Given the description of an element on the screen output the (x, y) to click on. 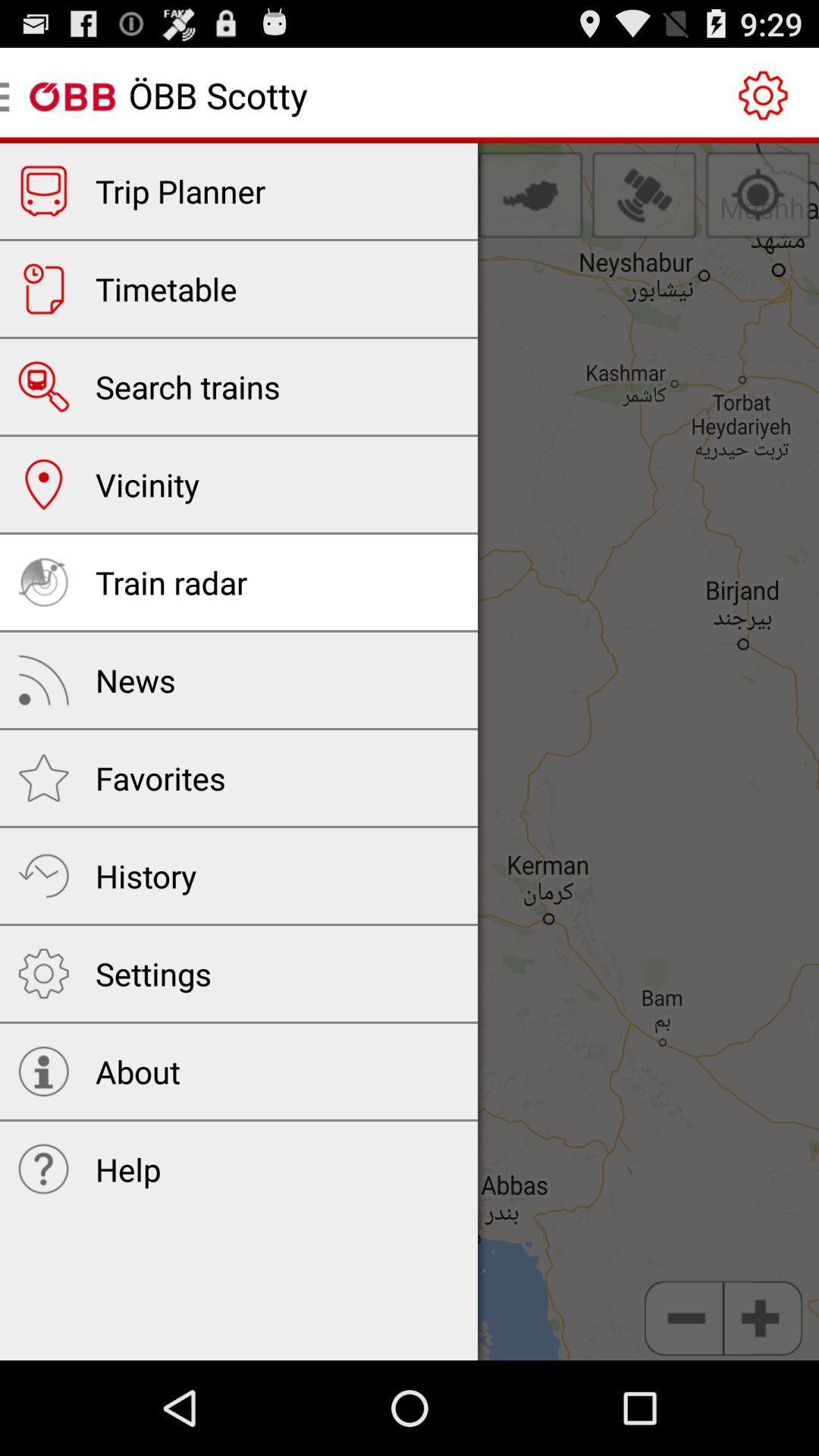
tap timetable app (166, 288)
